Given the description of an element on the screen output the (x, y) to click on. 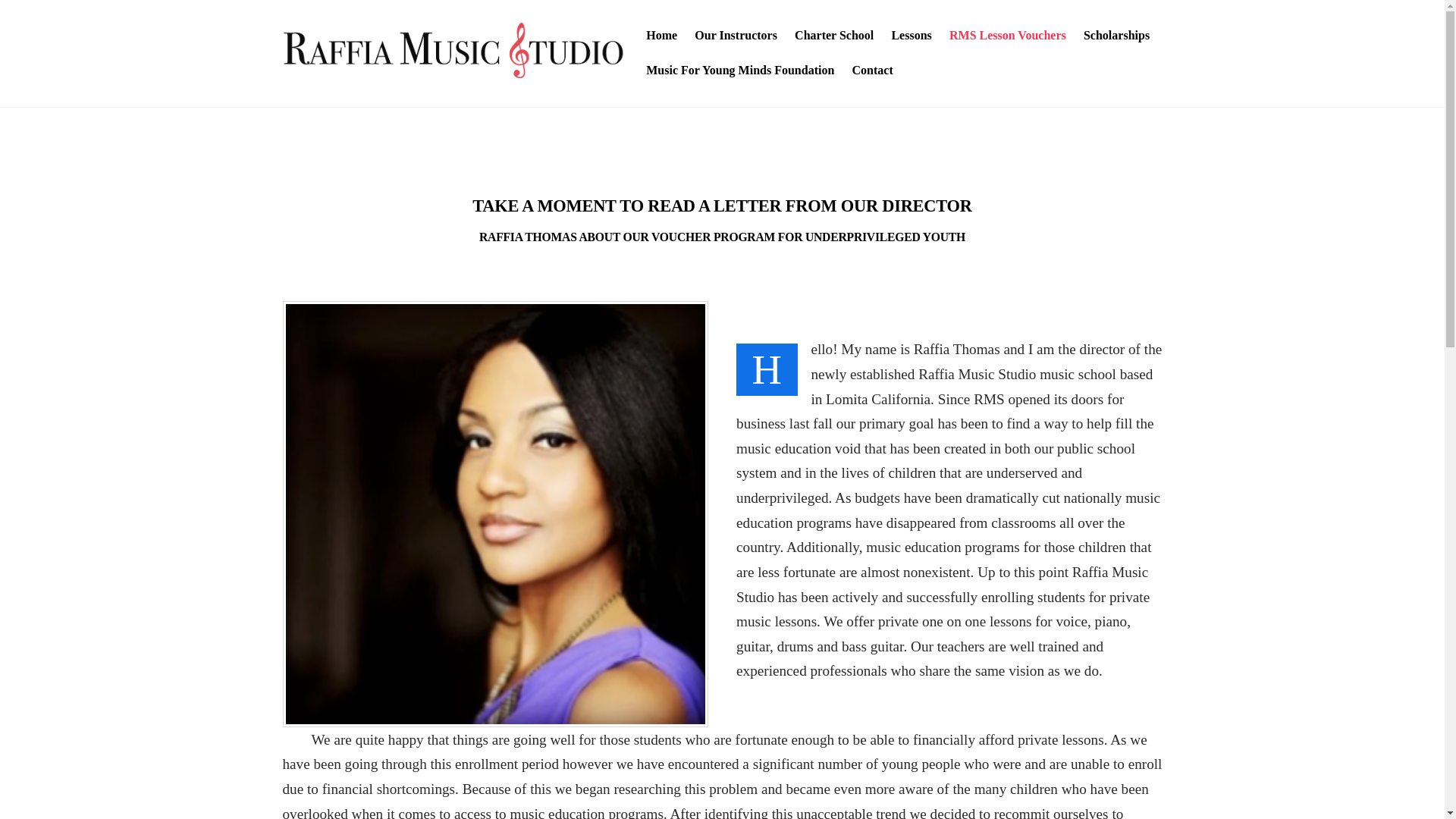
Charter School (833, 36)
five (452, 49)
Our Instructors (735, 36)
RMS Lesson Vouchers (1007, 36)
Raffia Music School (452, 70)
Contact (871, 70)
Lessons (911, 36)
Music For Young Minds Foundation (740, 70)
Scholarships (1115, 36)
